Given the description of an element on the screen output the (x, y) to click on. 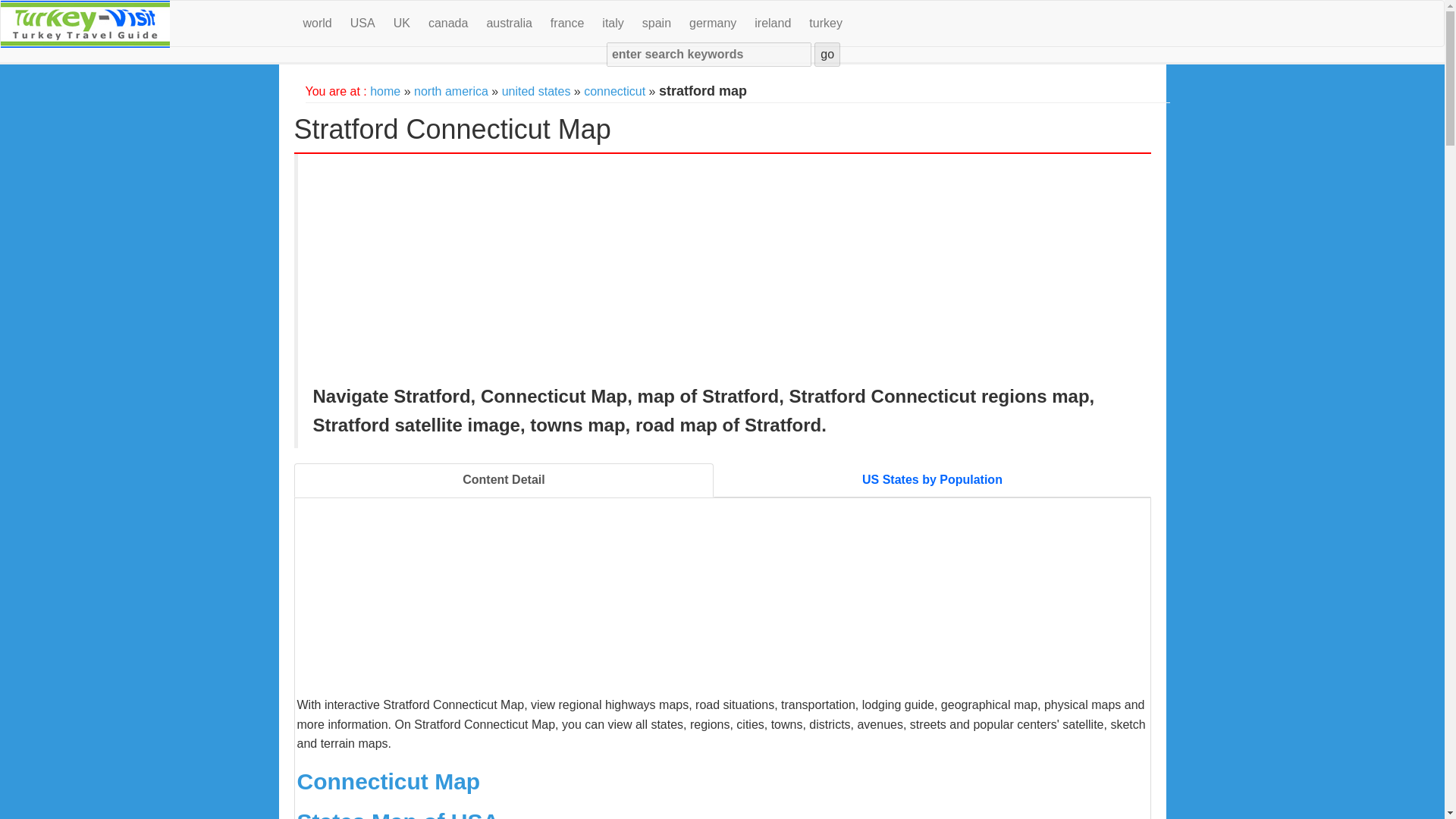
go (826, 54)
USA (371, 23)
world (326, 23)
